Given the description of an element on the screen output the (x, y) to click on. 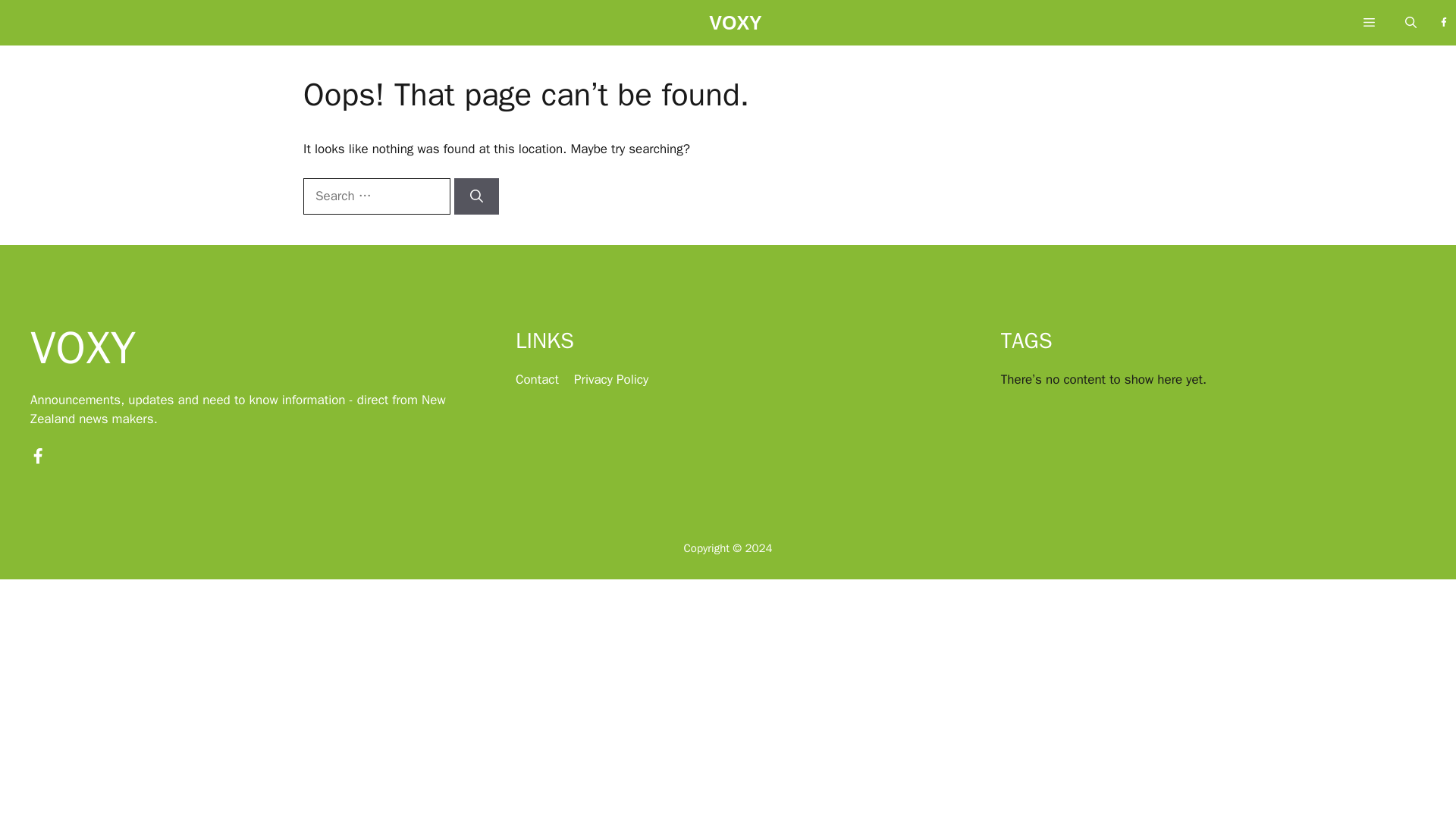
Search for: (375, 196)
VOXY (735, 26)
Privacy Policy (610, 379)
Contact (537, 379)
